Given the description of an element on the screen output the (x, y) to click on. 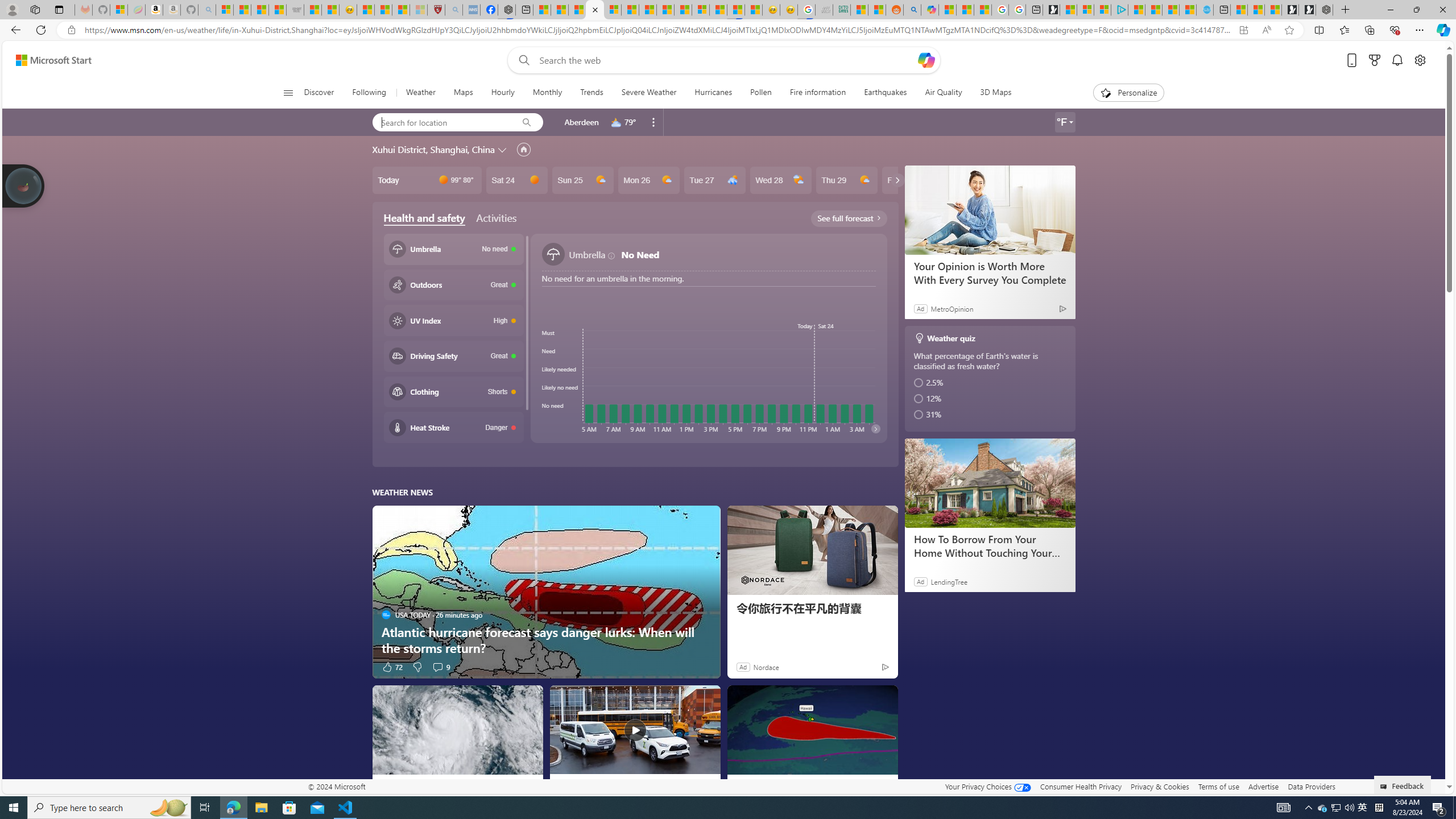
MSNBC - MSN (859, 9)
Ad (742, 666)
Enter your search term (726, 59)
Feedback (1402, 784)
Add this page to favorites (Ctrl+D) (1289, 29)
Clothing Shorts (453, 391)
Trusted Community Engagement and Contributions | Guidelines (683, 9)
Settings and more (Alt+F) (1419, 29)
Discover (323, 92)
Terms of use (1218, 785)
Open navigation menu (287, 92)
Sat 24 (516, 180)
